Given the description of an element on the screen output the (x, y) to click on. 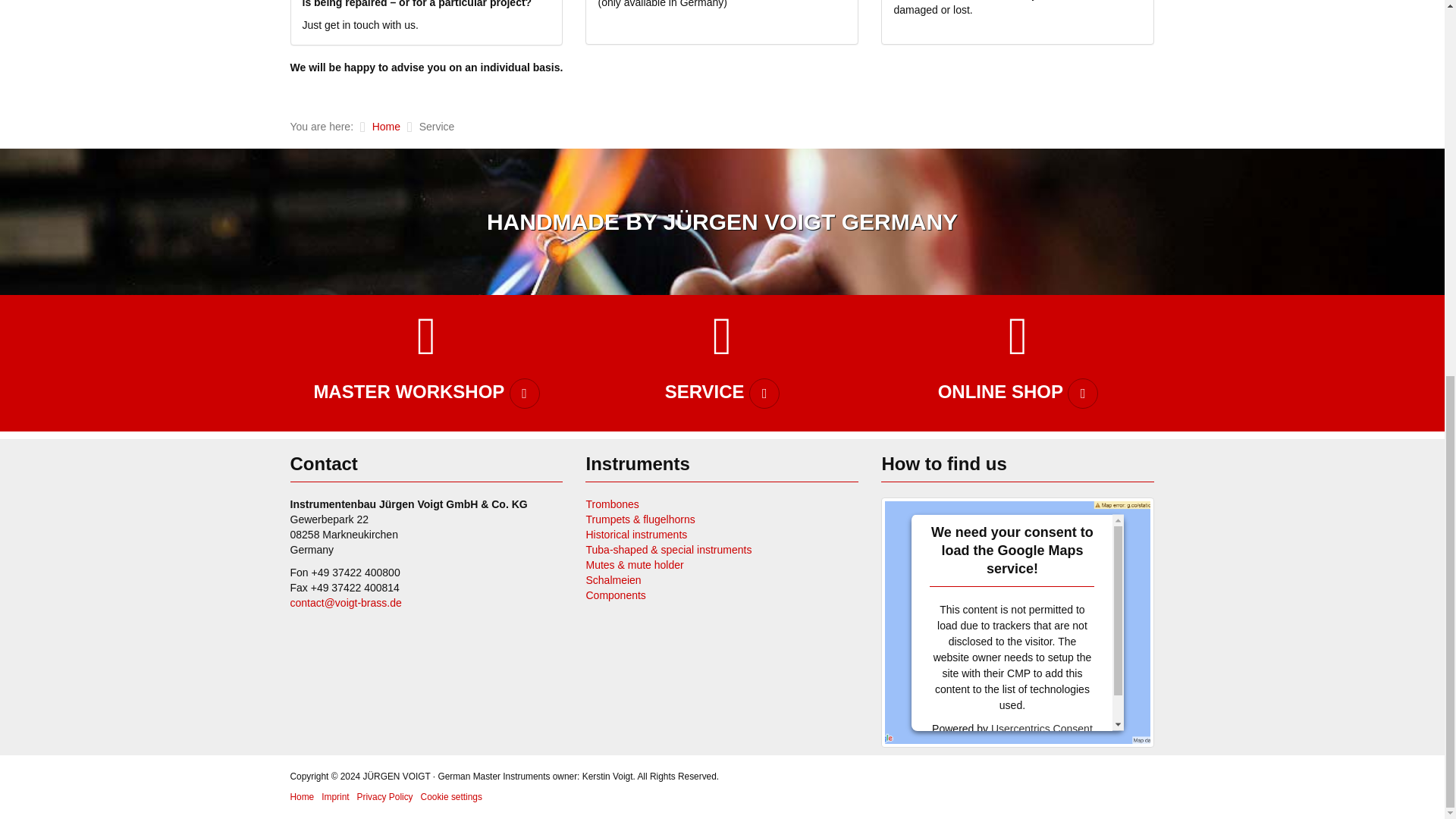
Home (386, 126)
Historical instruments (636, 534)
Trombones (612, 503)
